Given the description of an element on the screen output the (x, y) to click on. 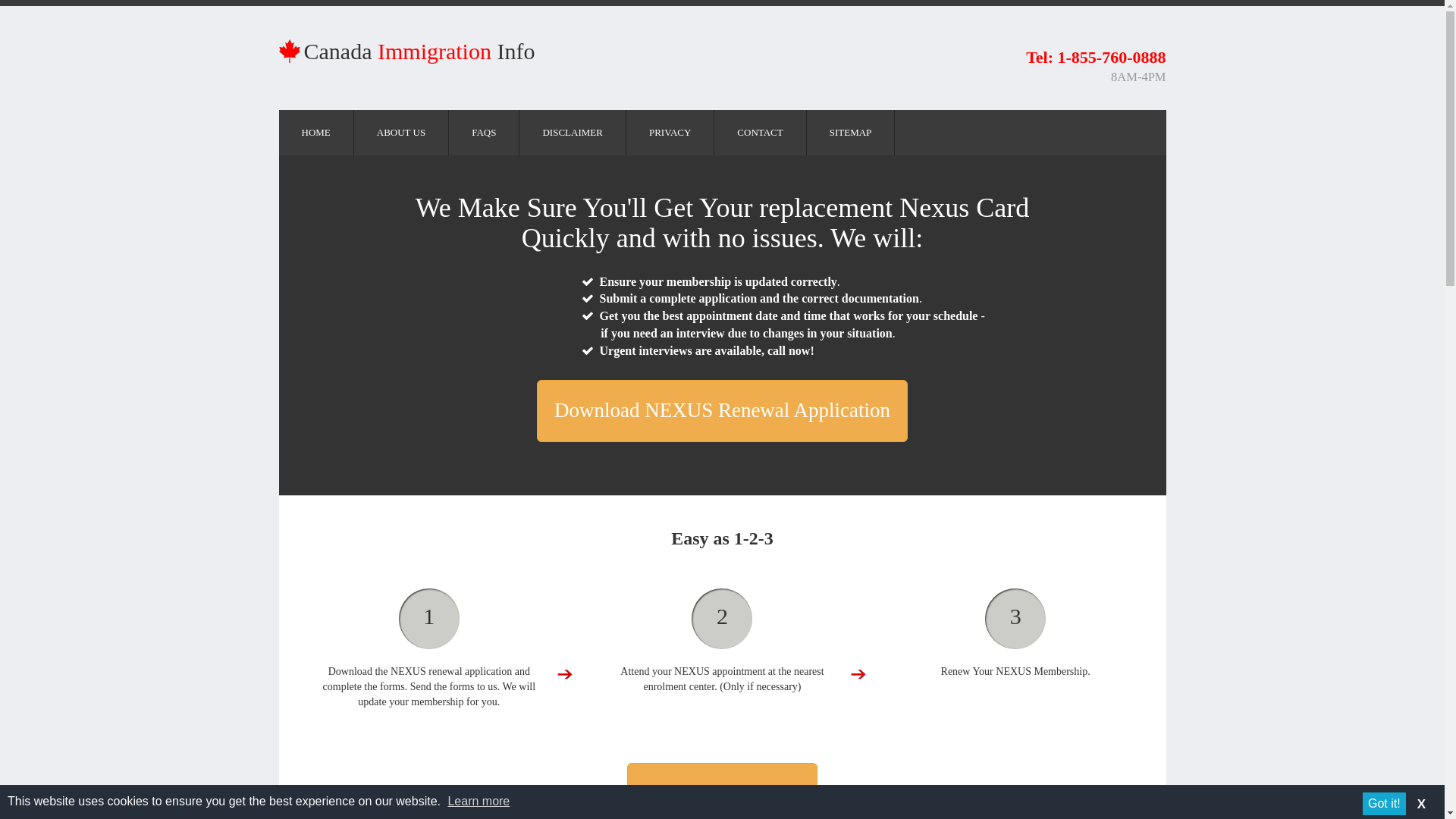
SITEMAP (850, 132)
Got it! (1384, 803)
FAQS (483, 132)
HOME (316, 132)
PRIVACY (669, 132)
Learn more (477, 800)
Renew Now (721, 790)
DISCLAIMER (571, 132)
ABOUT US (400, 132)
CONTACT (759, 132)
